Given the description of an element on the screen output the (x, y) to click on. 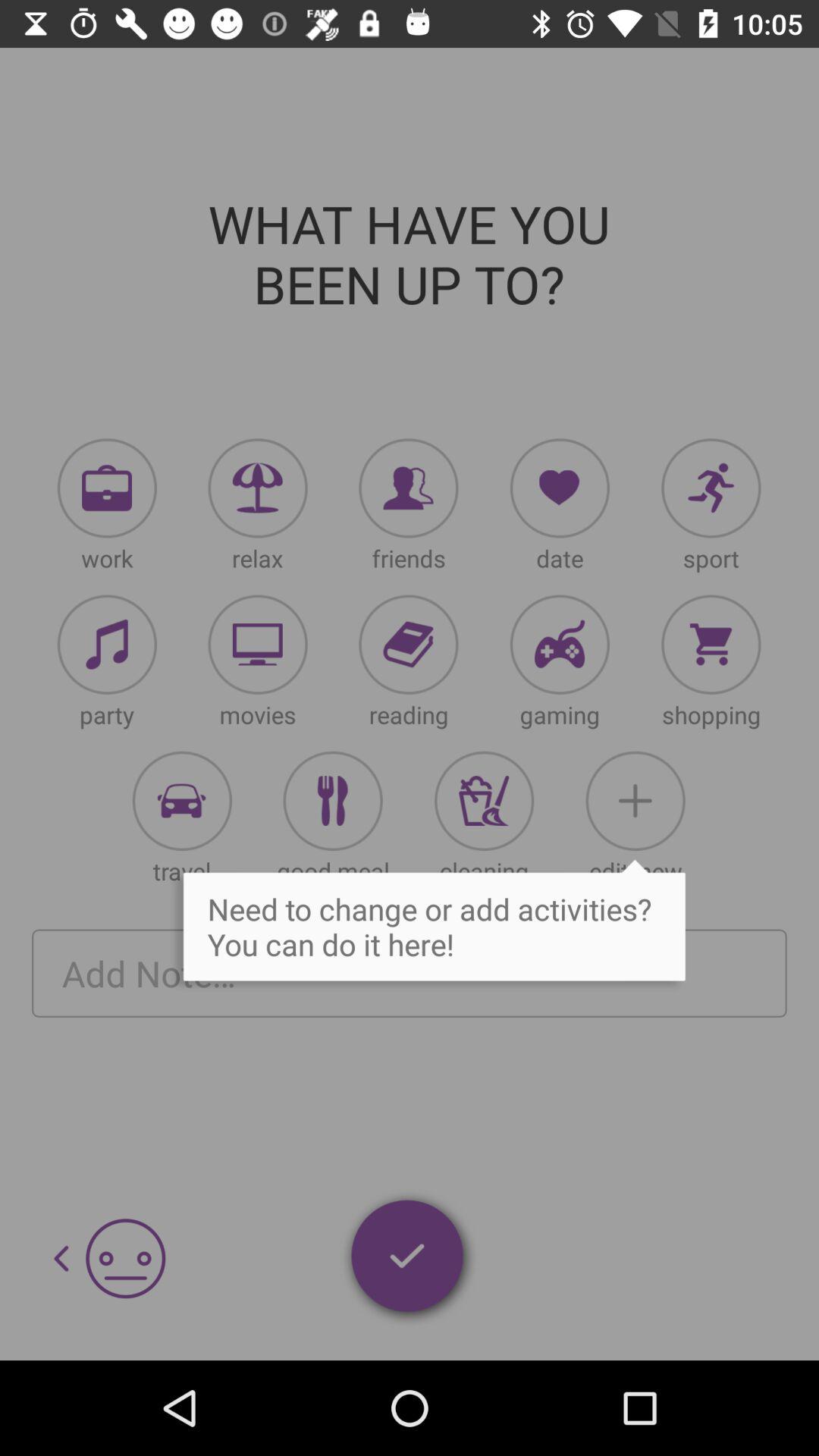
gaming button (559, 644)
